Given the description of an element on the screen output the (x, y) to click on. 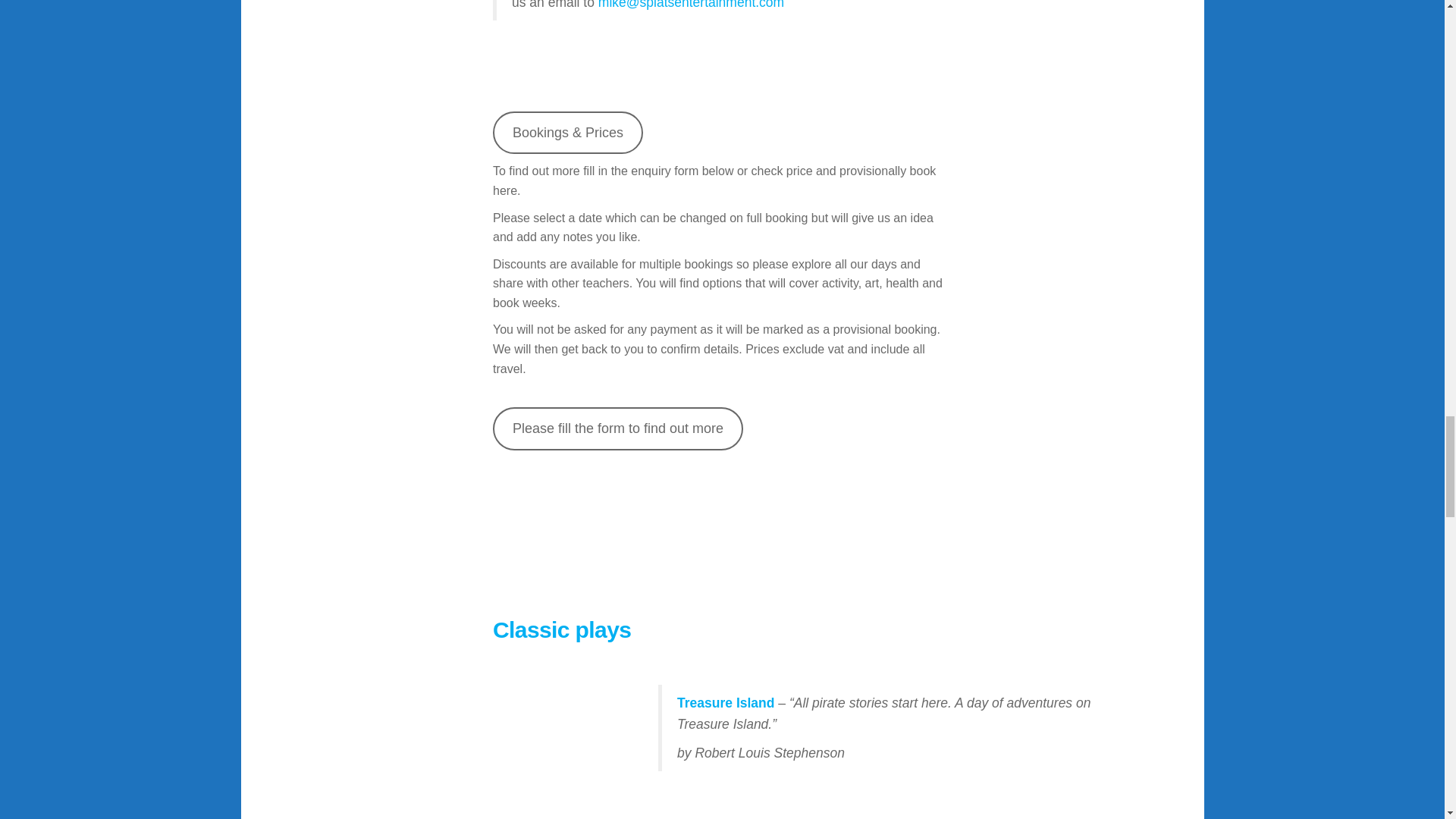
Please fill the form to find out more (617, 428)
Treasure Island (725, 702)
Classic plays (561, 629)
